Given the description of an element on the screen output the (x, y) to click on. 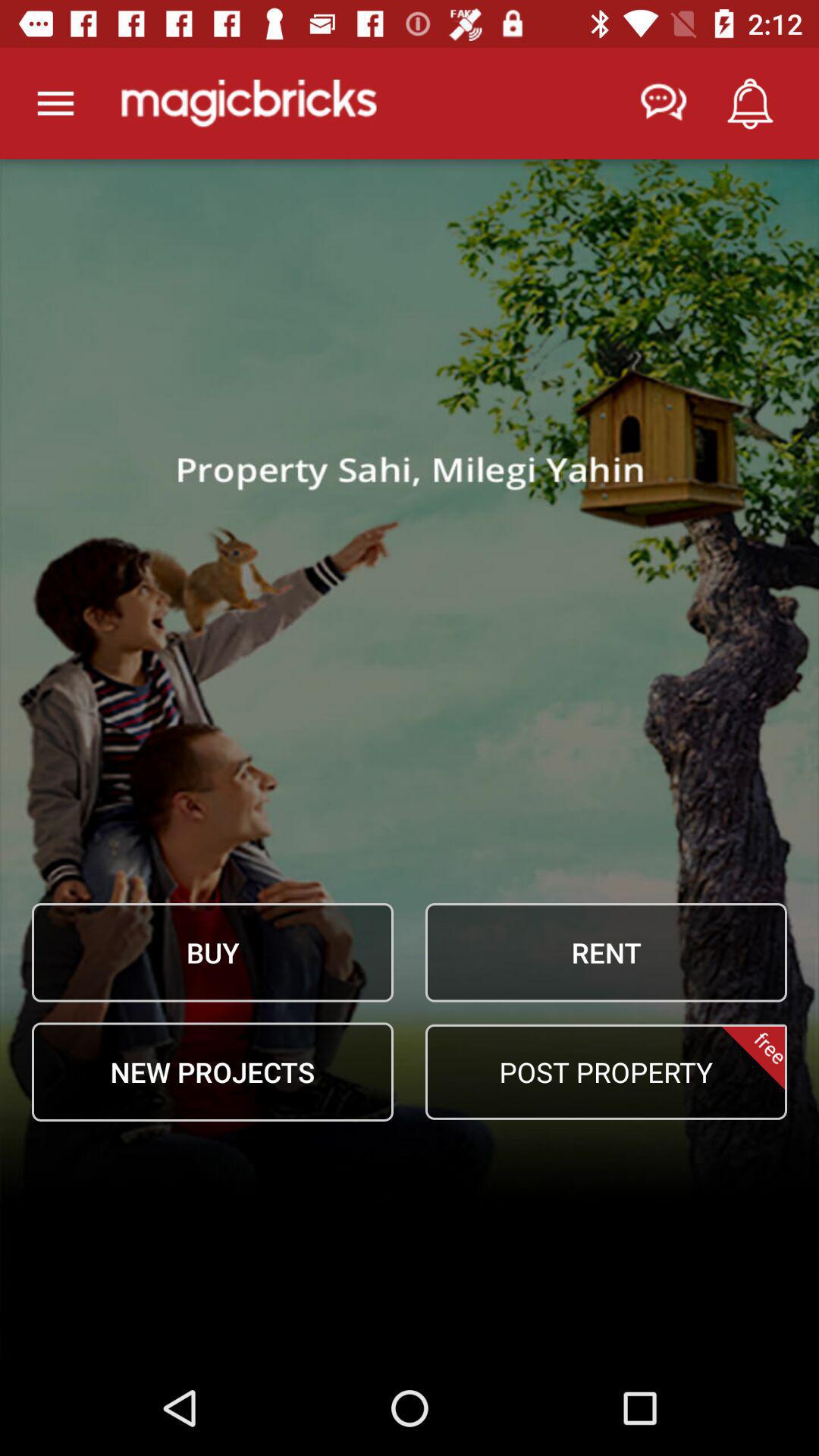
menu (55, 103)
